Given the description of an element on the screen output the (x, y) to click on. 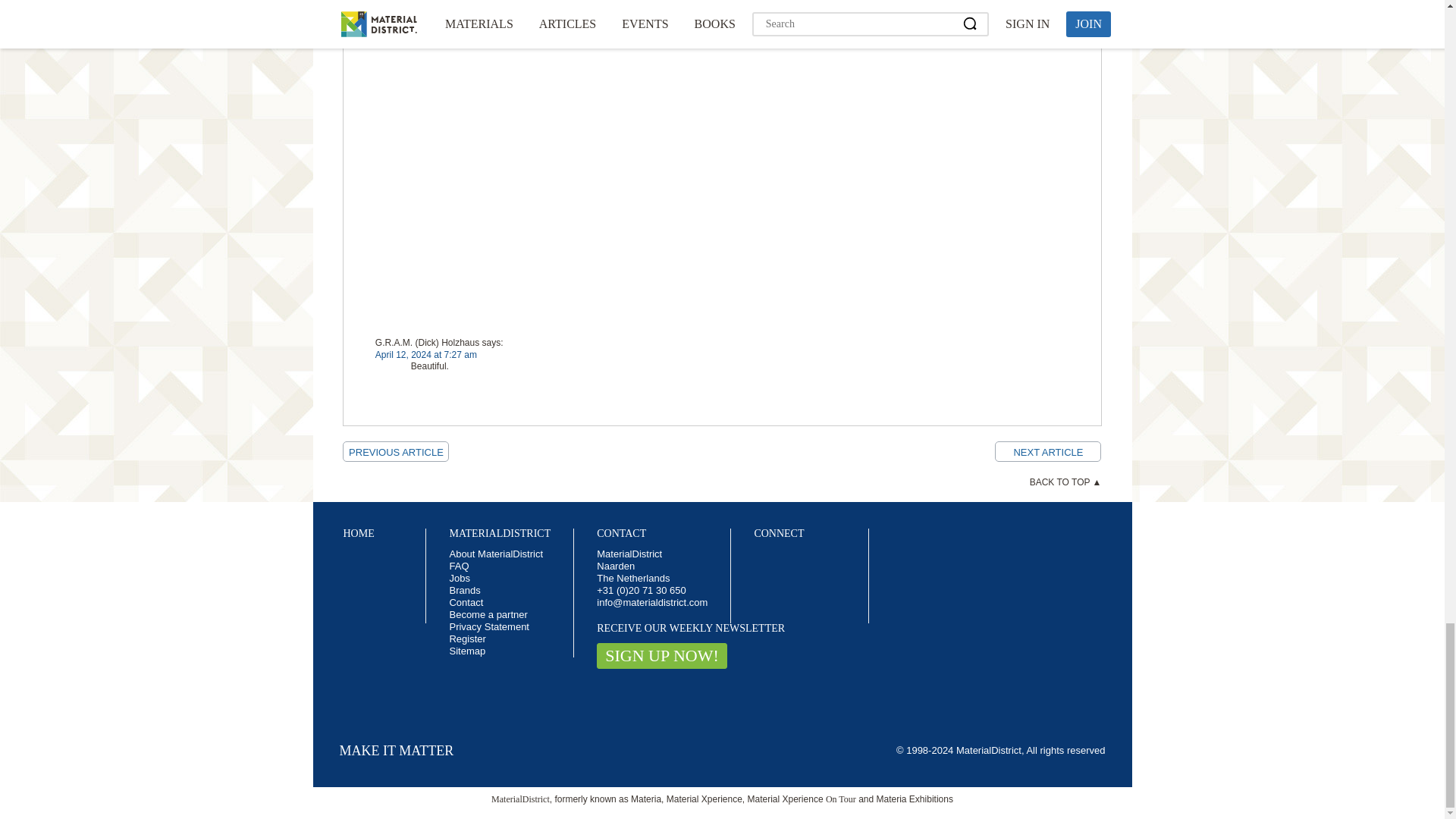
A hybrid structure made of willow and earth (1047, 451)
Register (466, 638)
facebook (765, 559)
NEXT ARTICLE (1047, 451)
About MaterialDistrict (495, 553)
Brands (464, 590)
Privacy Statement (488, 626)
Jobs (458, 577)
Sitemap (466, 650)
HOME (358, 532)
Home (358, 532)
Contact (465, 602)
A bag made of 99 per cent air (395, 451)
Become a partner (487, 614)
FAQ (458, 565)
